Given the description of an element on the screen output the (x, y) to click on. 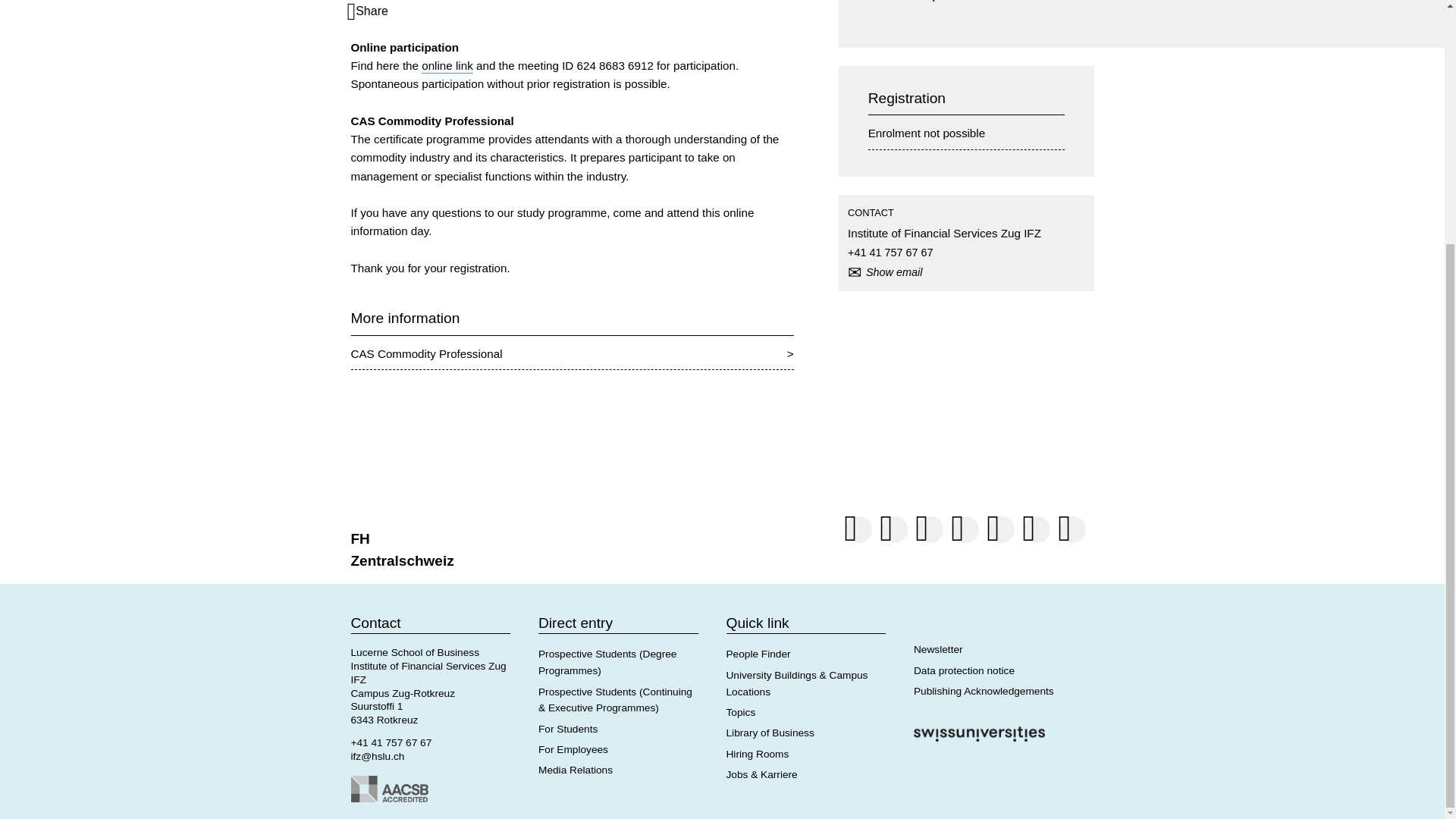
Flickr (1072, 531)
online link (447, 65)
YouTube (1036, 531)
CAS Commodity Professional (571, 353)
Twitter (1001, 531)
TikTok (930, 531)
Instagram (858, 531)
Facebook (965, 531)
LinkedIn (893, 531)
